Given the description of an element on the screen output the (x, y) to click on. 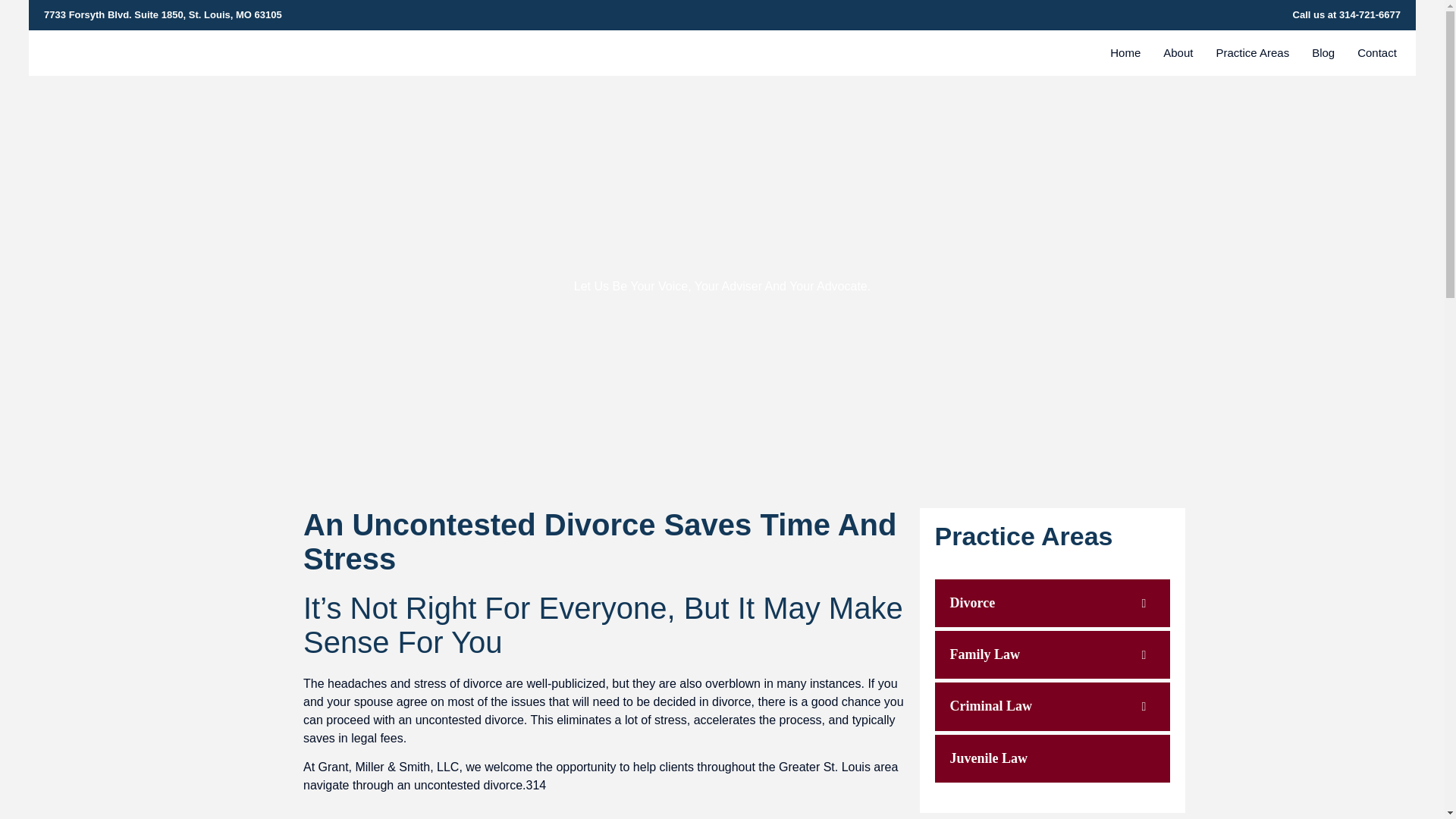
Blog (1322, 52)
Home (1125, 52)
Practice Areas (1251, 52)
7733 Forsyth Blvd. Suite 1850, St. Louis, MO 63105 (382, 14)
About (1177, 52)
